Given the description of an element on the screen output the (x, y) to click on. 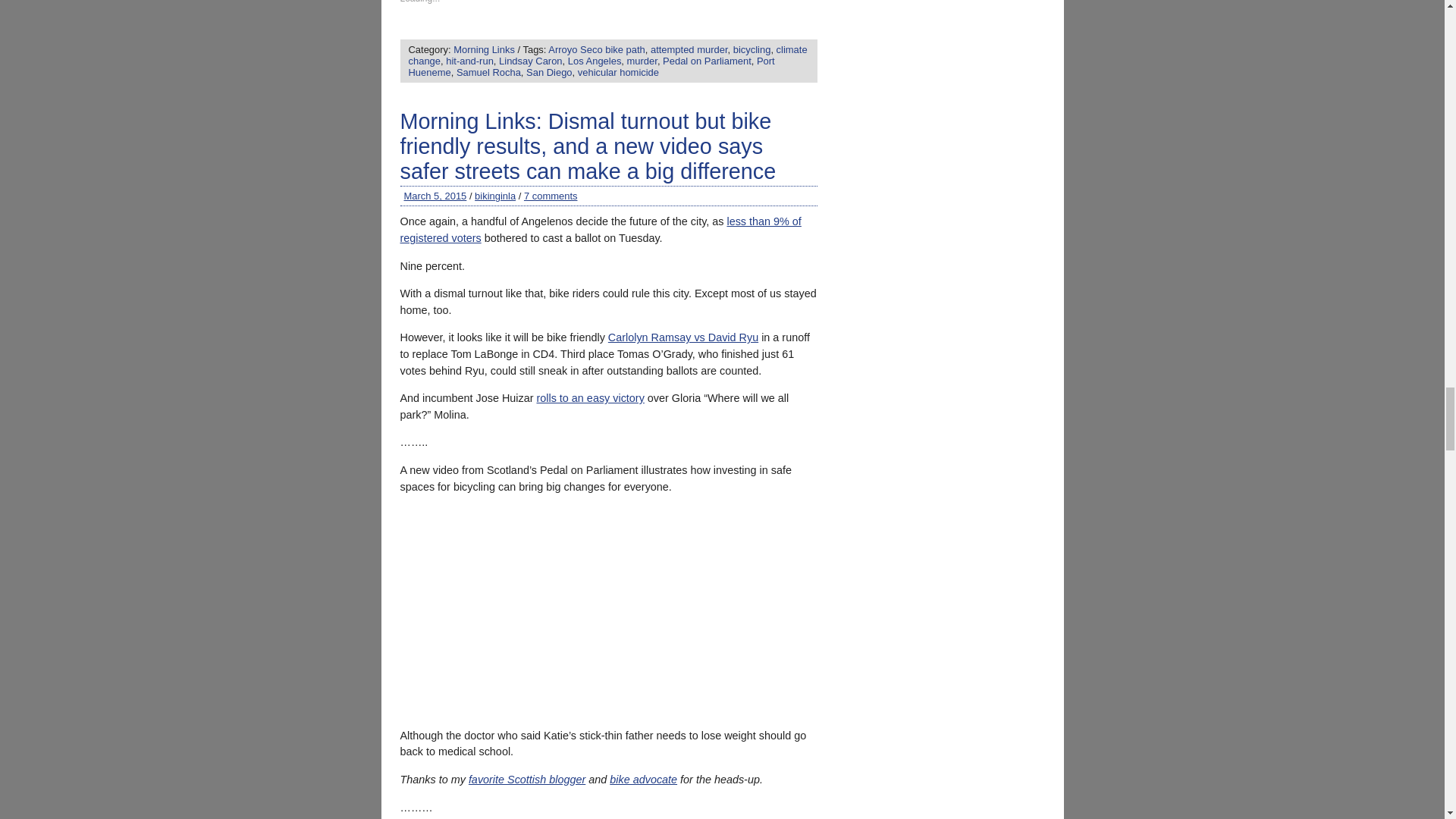
Posts by bikinginla (494, 195)
